Given the description of an element on the screen output the (x, y) to click on. 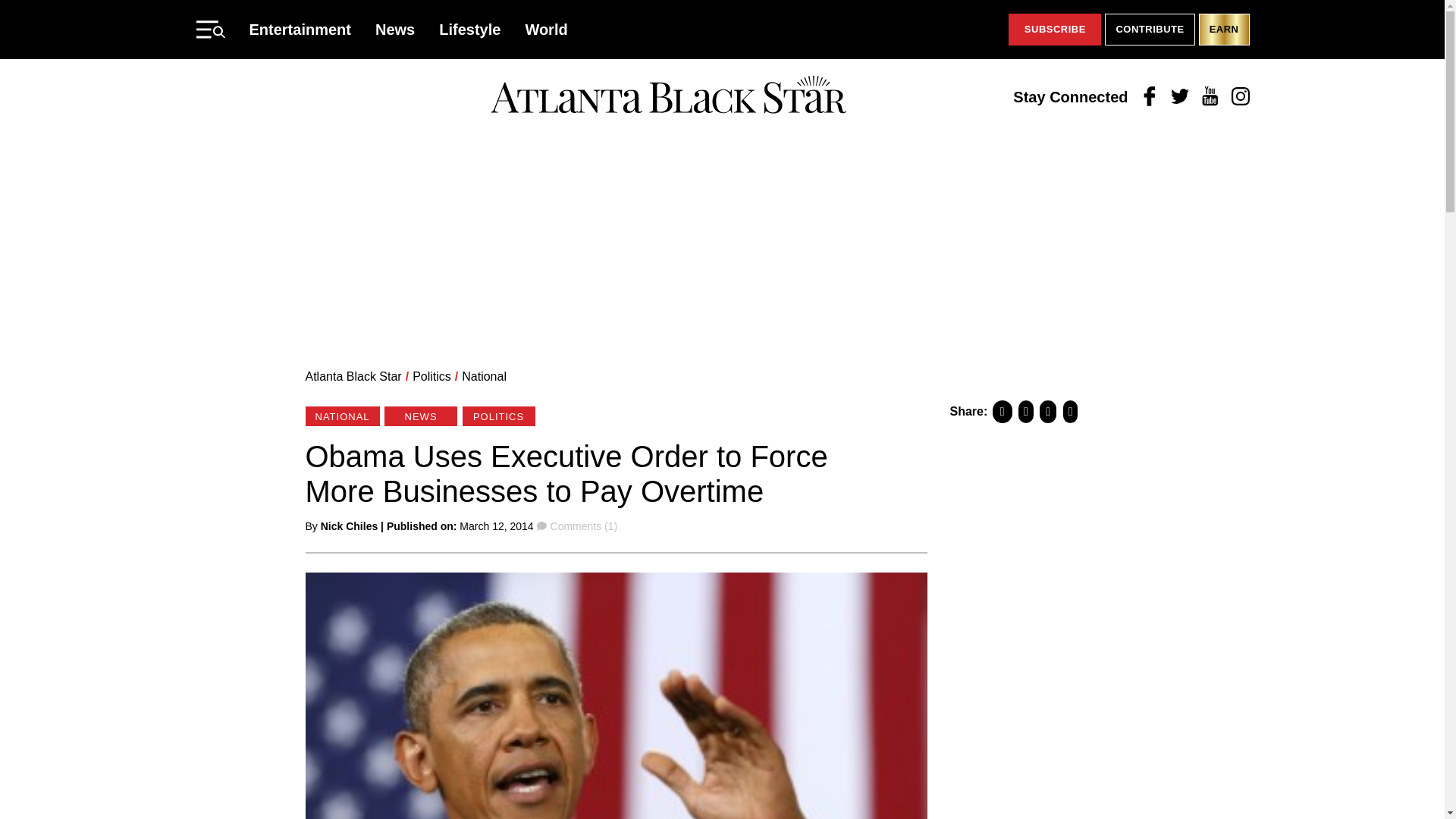
Go to Atlanta Black Star. (352, 376)
Politics (431, 376)
Atlanta Black Star (352, 376)
World (545, 29)
EARN (1223, 29)
Lifestyle (469, 29)
Go to the Politics Category archives. (431, 376)
CONTRIBUTE (1149, 29)
SUBSCRIBE (1054, 29)
News (394, 29)
Entertainment (299, 29)
Atlanta Black Star (667, 96)
Go to the National Category archives. (483, 376)
